Given the description of an element on the screen output the (x, y) to click on. 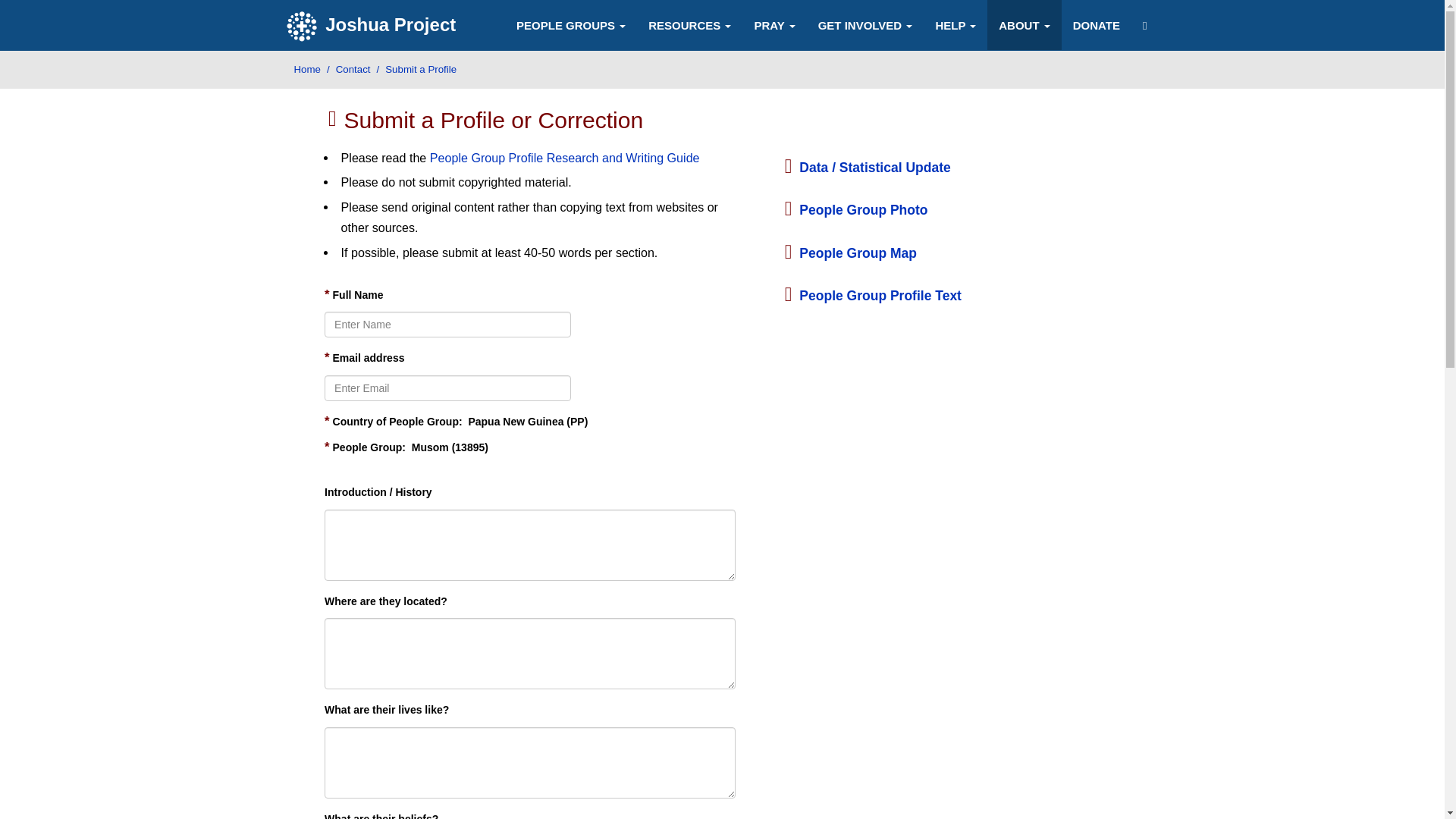
RESOURCES (689, 24)
Joshua Project (373, 25)
PEOPLE GROUPS (571, 24)
